Given the description of an element on the screen output the (x, y) to click on. 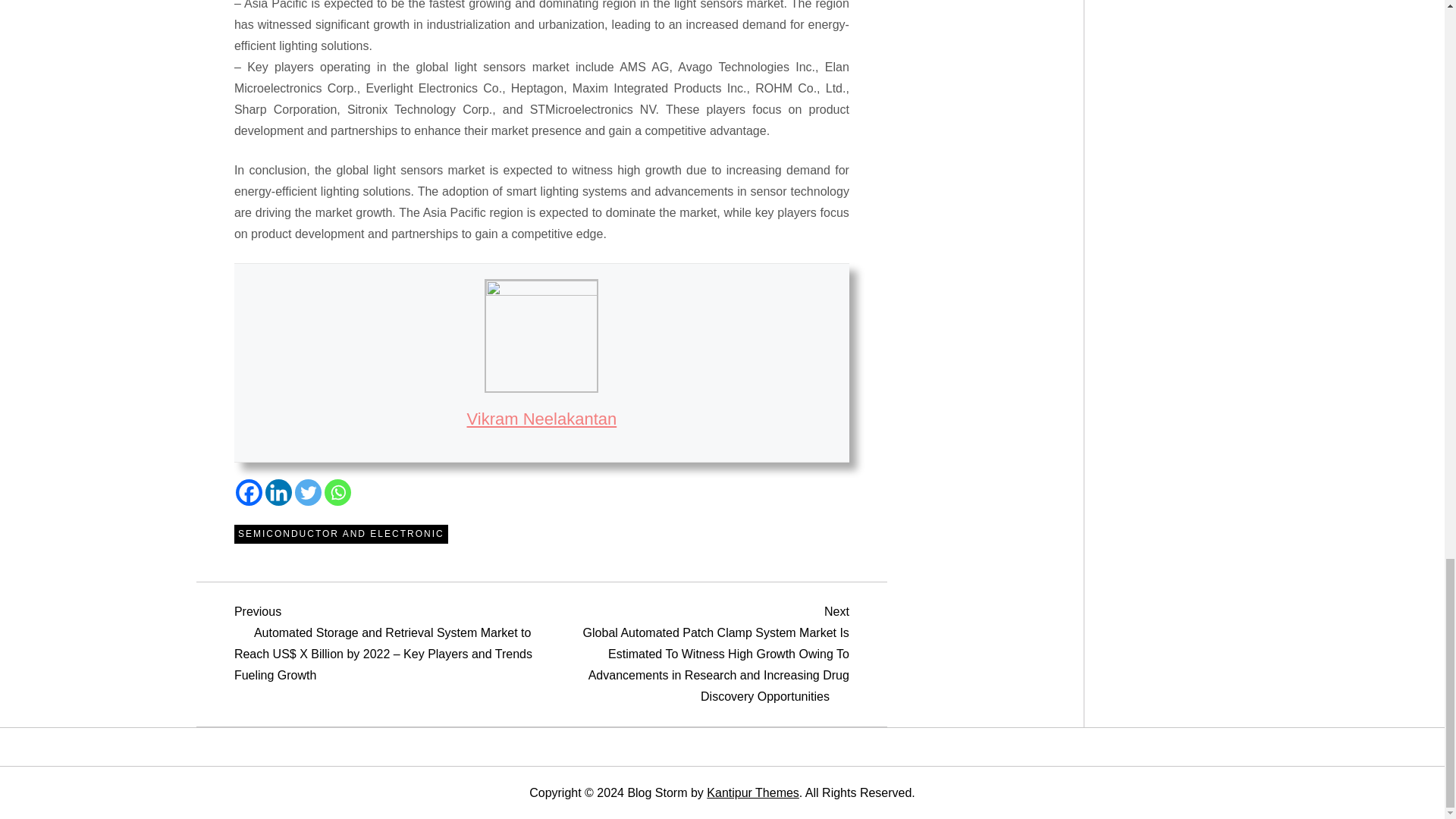
Kantipur Themes (752, 792)
Twitter (308, 492)
Facebook (248, 492)
Vikram Neelakantan (542, 418)
Linkedin (278, 492)
Whatsapp (337, 492)
SEMICONDUCTOR AND ELECTRONIC (341, 534)
